Given the description of an element on the screen output the (x, y) to click on. 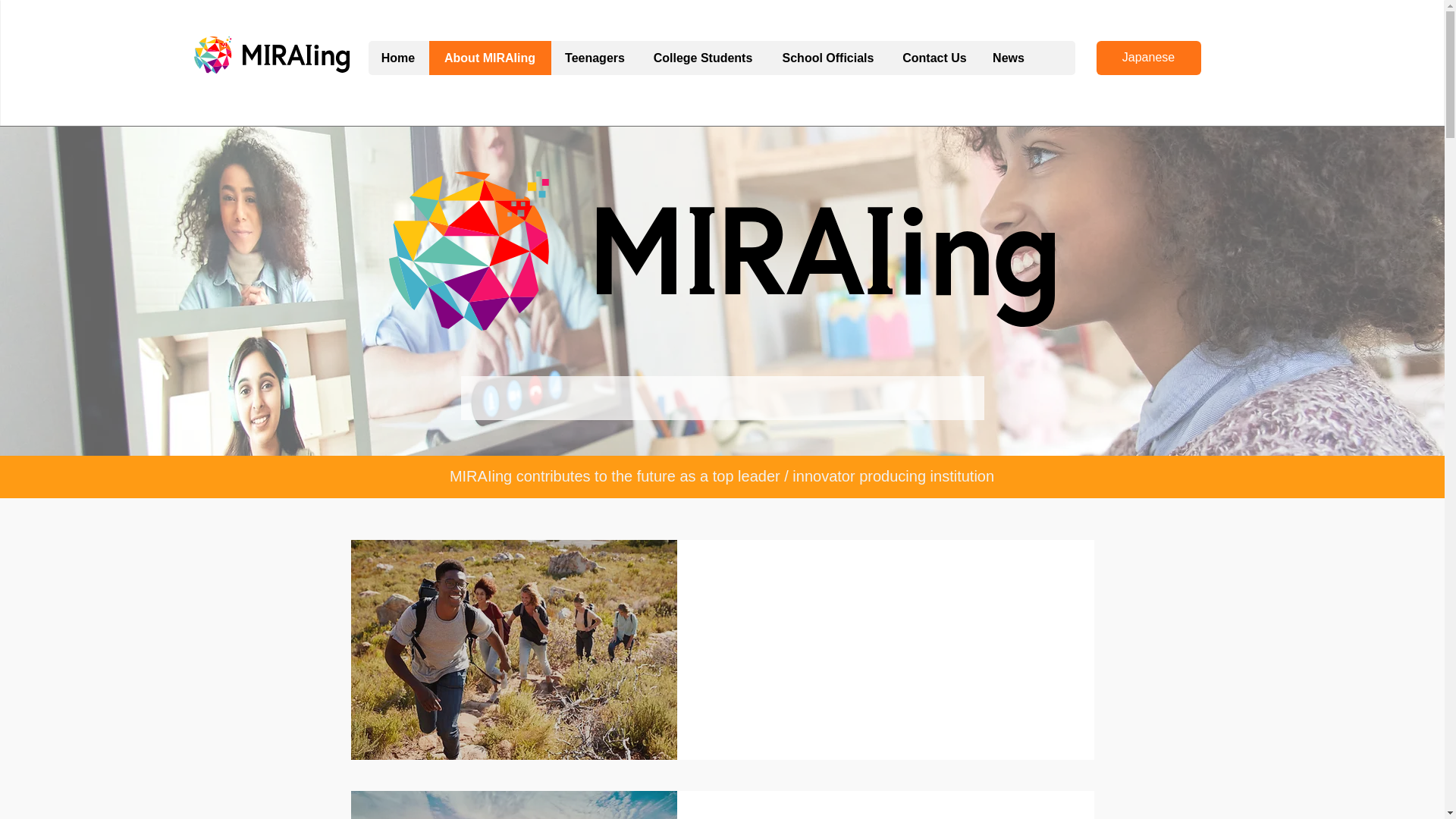
Home (398, 57)
Teenagers (593, 57)
About MIRAIing (489, 57)
News (1007, 57)
Contact Us (933, 57)
Japanese (1148, 57)
School Officials (827, 57)
College Students (703, 57)
